Given the description of an element on the screen output the (x, y) to click on. 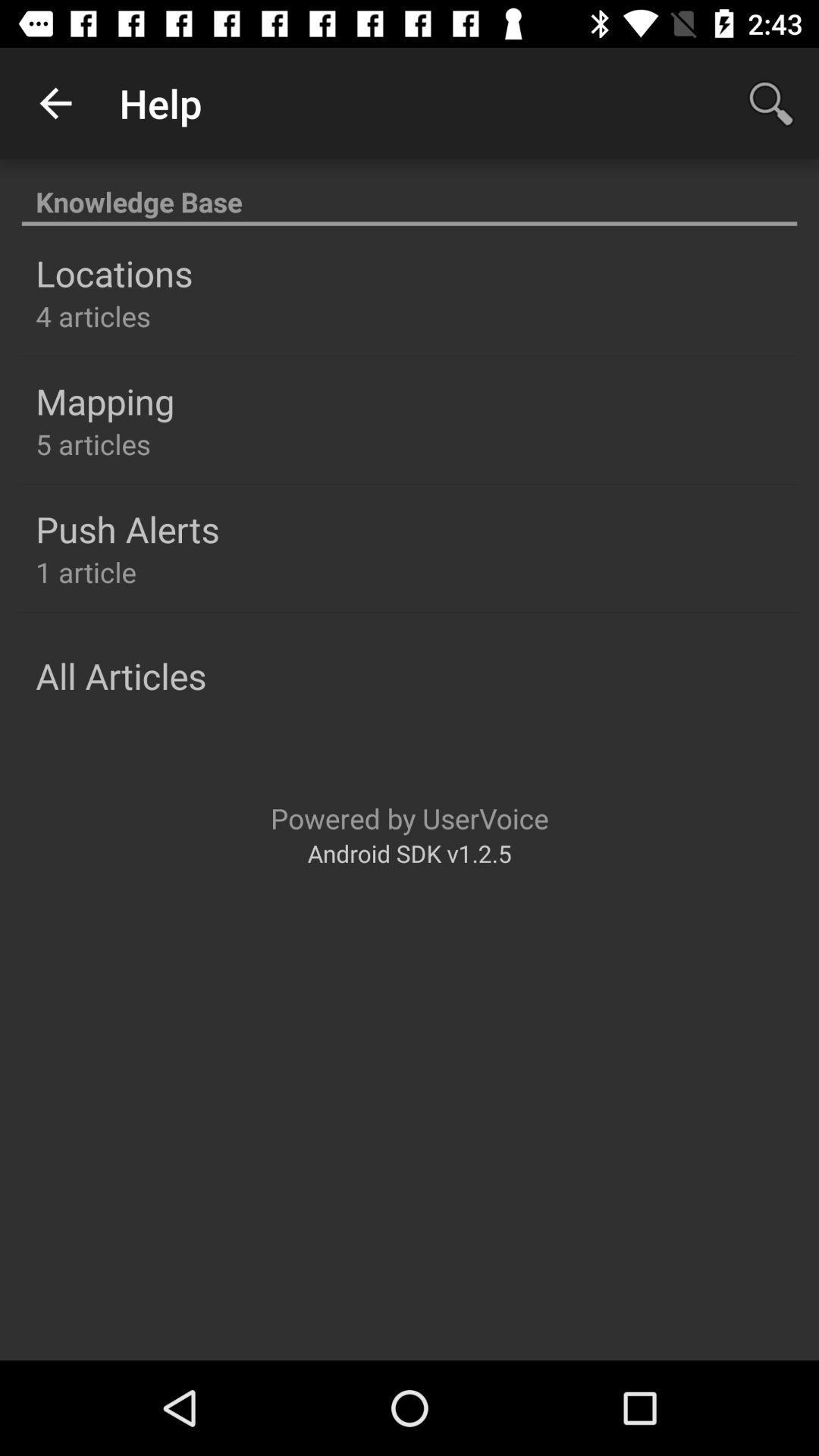
swipe until the push alerts icon (127, 529)
